Given the description of an element on the screen output the (x, y) to click on. 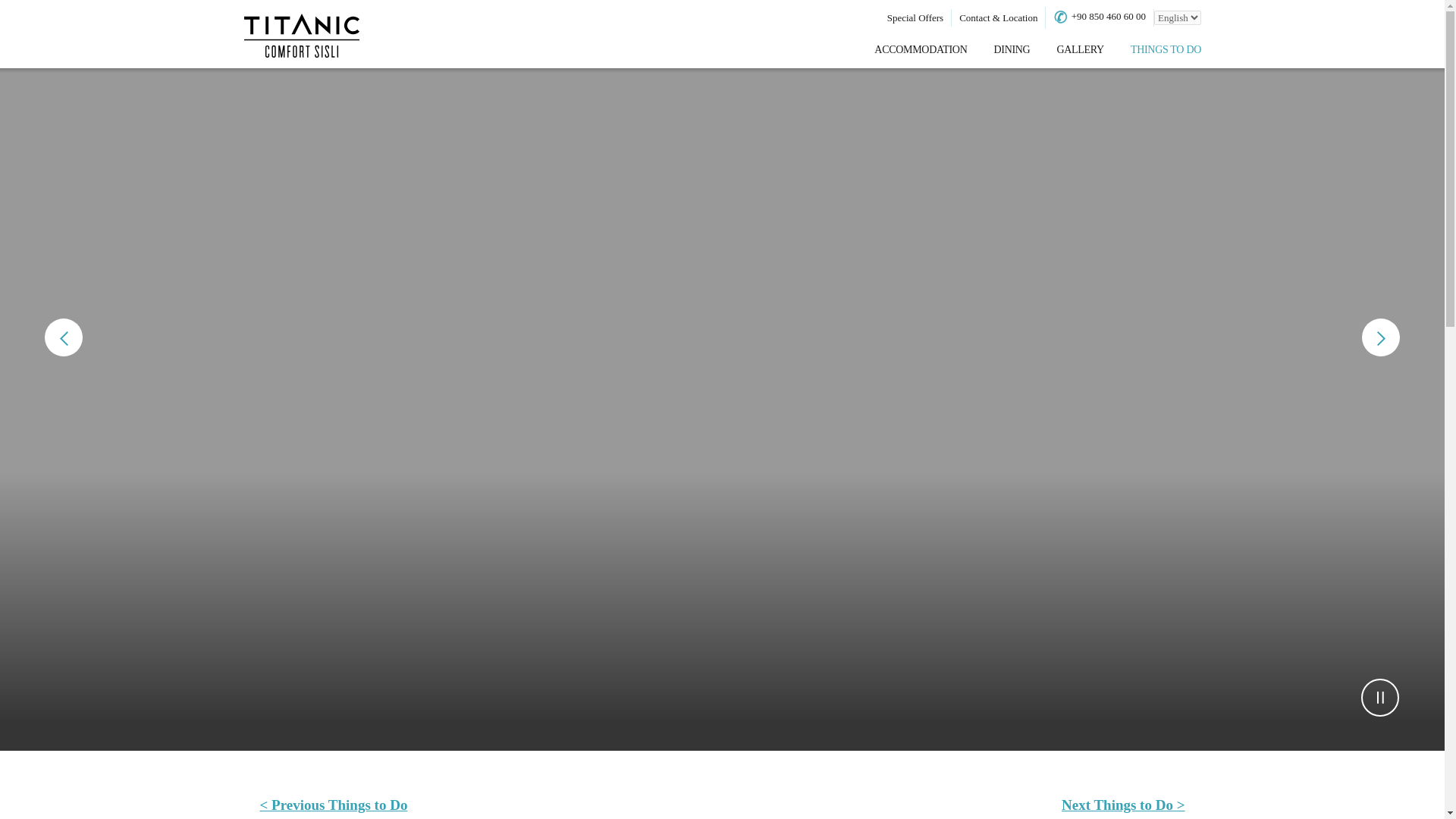
GALLERY (1080, 49)
DINING (1010, 49)
ACCOMMODATION (920, 49)
THINGS TO DO (1166, 49)
Special Offers (914, 17)
